Given the description of an element on the screen output the (x, y) to click on. 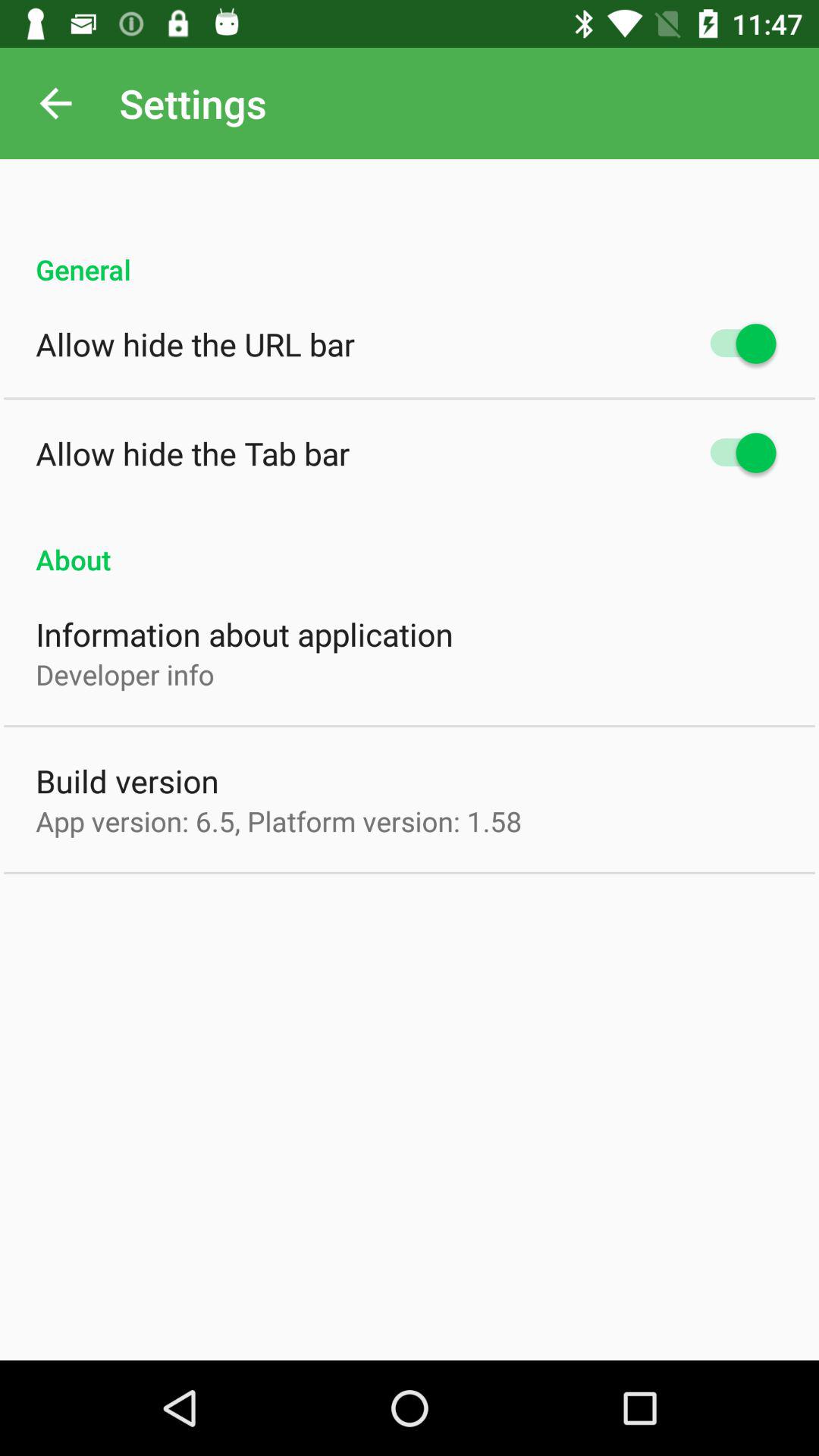
scroll until developer info icon (124, 674)
